Given the description of an element on the screen output the (x, y) to click on. 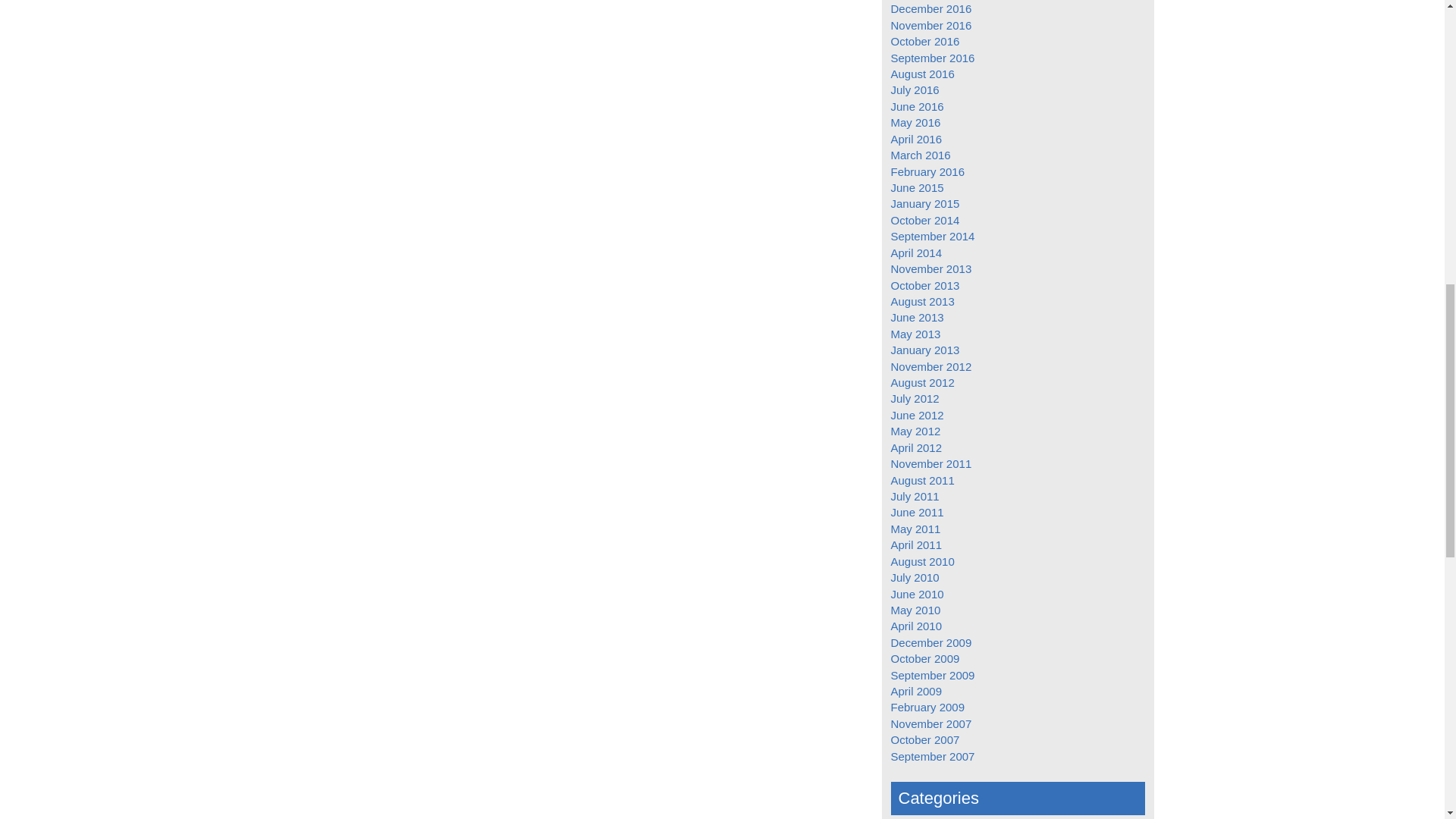
October 2016 (924, 41)
November 2016 (930, 24)
December 2016 (930, 8)
September 2016 (931, 57)
